Given the description of an element on the screen output the (x, y) to click on. 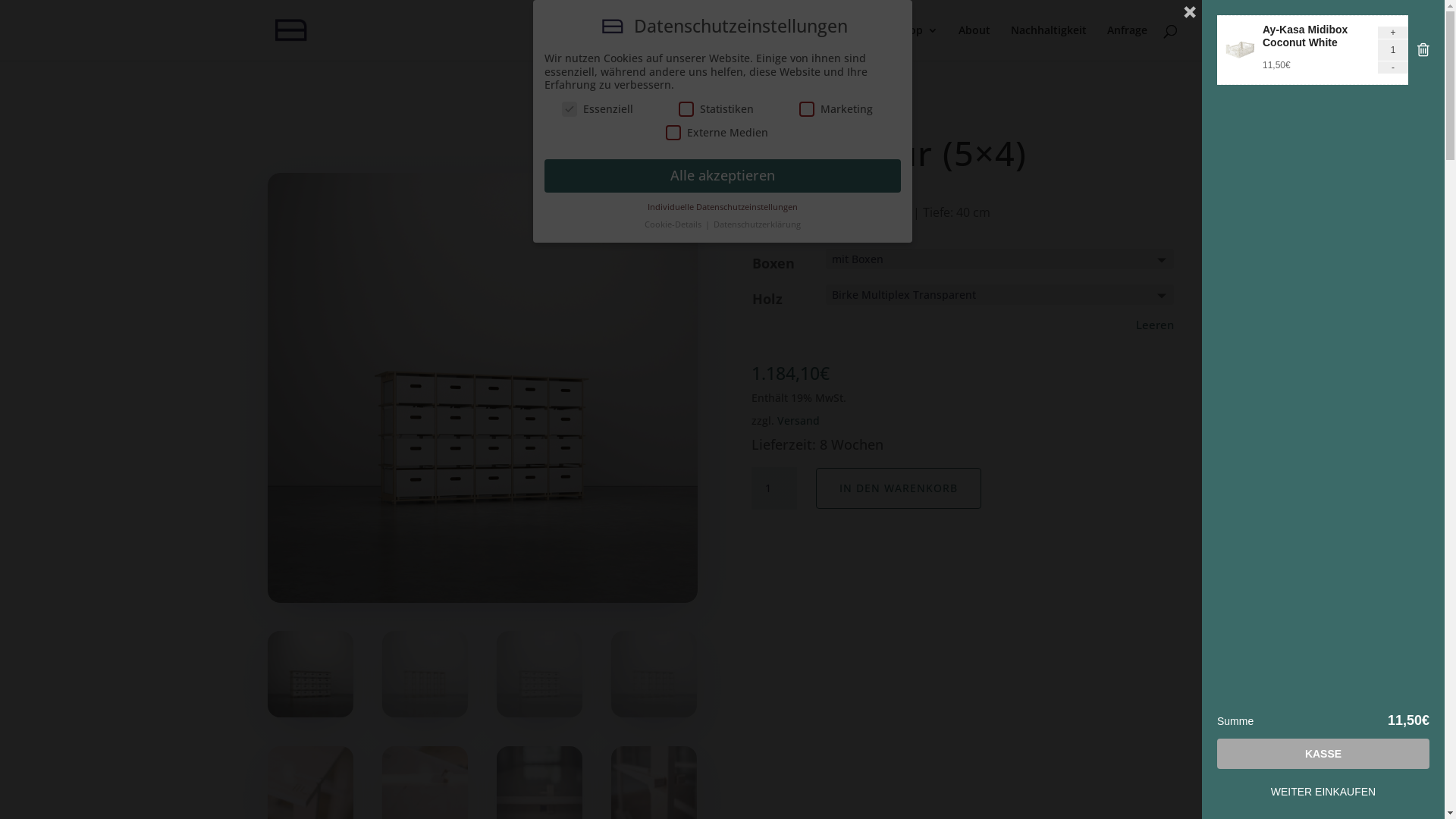
KASSE Element type: text (1323, 753)
Shop Element type: text (917, 42)
Leeren Element type: text (1154, 324)
16boxes - (5x4) Fivebyfour - Birch + Boxes Element type: hover (481, 387)
Ay-Kasa Midibox Coconut White Element type: text (1304, 35)
Anfrage Element type: text (1127, 42)
Individuelle Datenschutzeinstellungen Element type: text (722, 206)
Nachhaltigkeit Element type: text (1047, 42)
About Element type: text (974, 42)
Alle akzeptieren Element type: text (722, 175)
Cookie-Details Element type: text (673, 224)
IN DEN WARENKORB Element type: text (898, 487)
Versand Element type: text (797, 420)
